Given the description of an element on the screen output the (x, y) to click on. 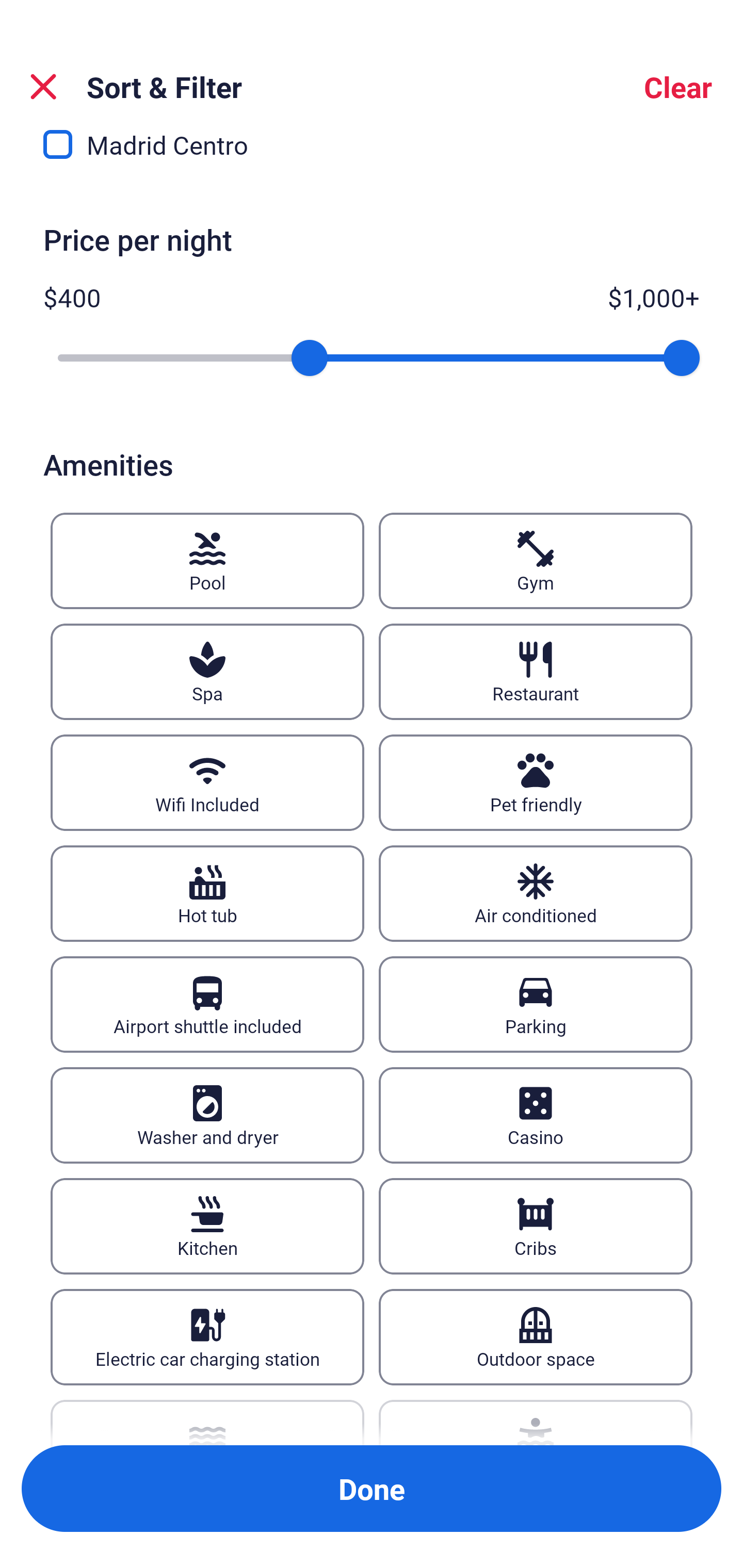
Close Sort and Filter (43, 86)
Clear (677, 86)
Madrid Centro, Madrid Centro (371, 159)
Pool (207, 560)
Gym (535, 560)
Spa (207, 671)
Restaurant (535, 671)
Wifi Included (207, 782)
Pet friendly (535, 782)
Hot tub (207, 893)
Air conditioned (535, 893)
Airport shuttle included (207, 1004)
Parking (535, 1004)
Washer and dryer (207, 1115)
Casino (535, 1115)
Kitchen (207, 1225)
Cribs (535, 1225)
Electric car charging station (207, 1337)
Outdoor space (535, 1337)
Apply and close Sort and Filter Done (371, 1488)
